Given the description of an element on the screen output the (x, y) to click on. 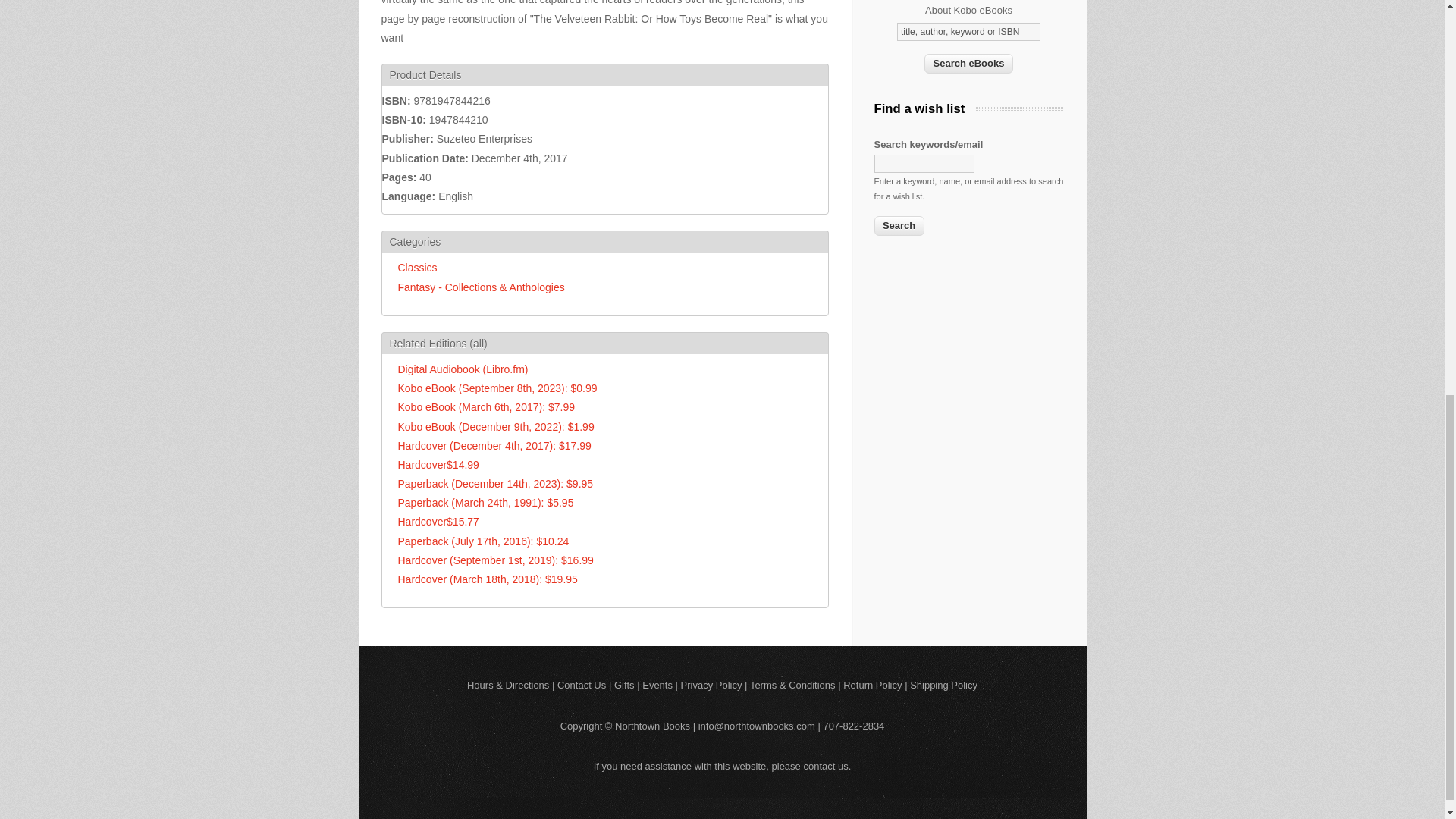
Search (898, 225)
title, author, keyword or ISBN (968, 31)
Search eBooks (968, 63)
Classics (416, 267)
